Given the description of an element on the screen output the (x, y) to click on. 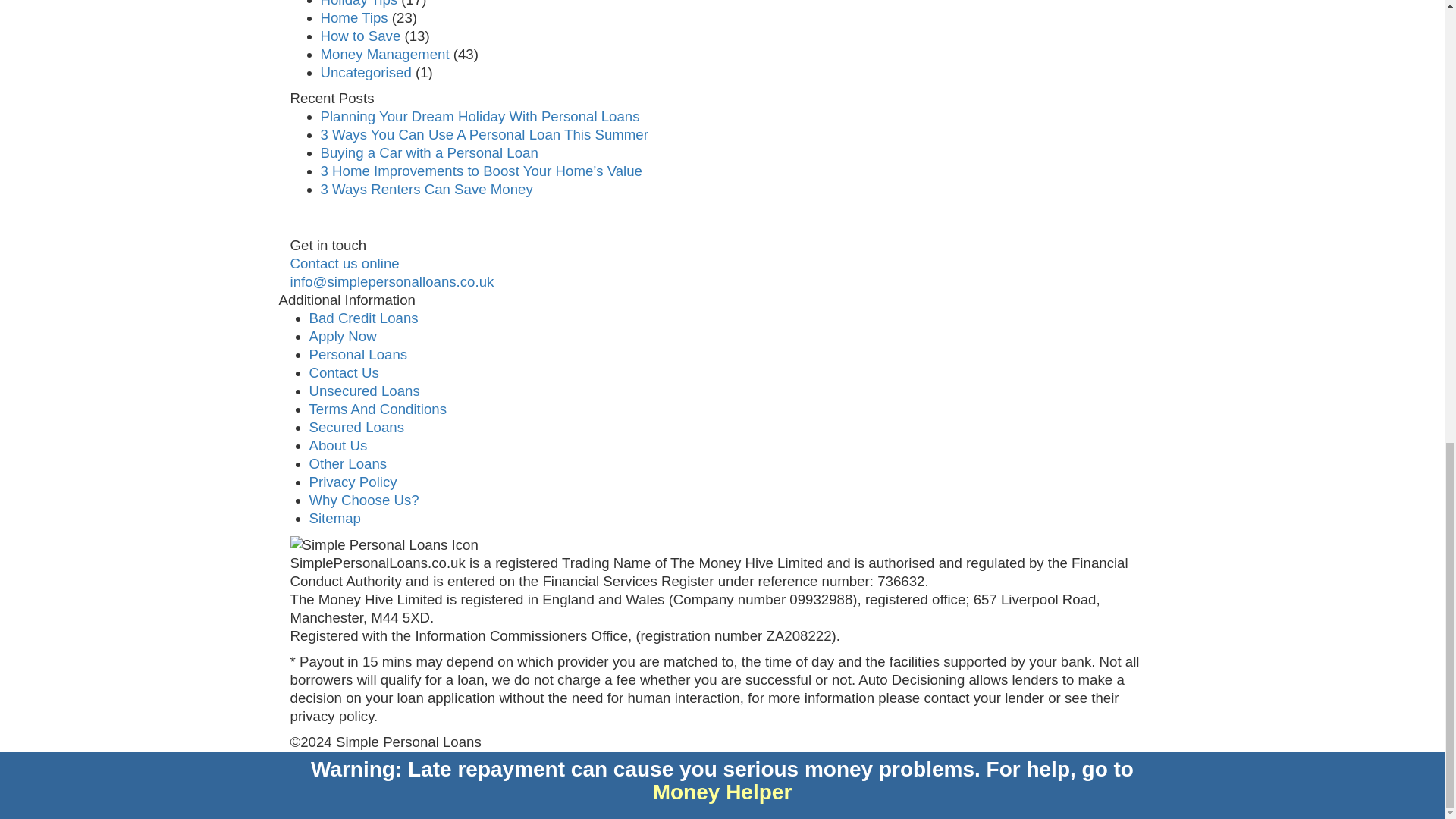
Money Management (384, 53)
About Us (338, 445)
Holiday Tips (358, 3)
Bad Credit Loans (363, 317)
Secured Loans (356, 426)
Privacy Policy (352, 481)
3 Ways Renters Can Save Money (426, 188)
Uncategorised (365, 72)
How to Save (360, 35)
Personal Loans (357, 354)
Contact us online (343, 263)
Unsecured Loans (364, 390)
3 Ways You Can Use A Personal Loan This Summer (483, 134)
Home Tips (353, 17)
Money Helper (722, 791)
